Given the description of an element on the screen output the (x, y) to click on. 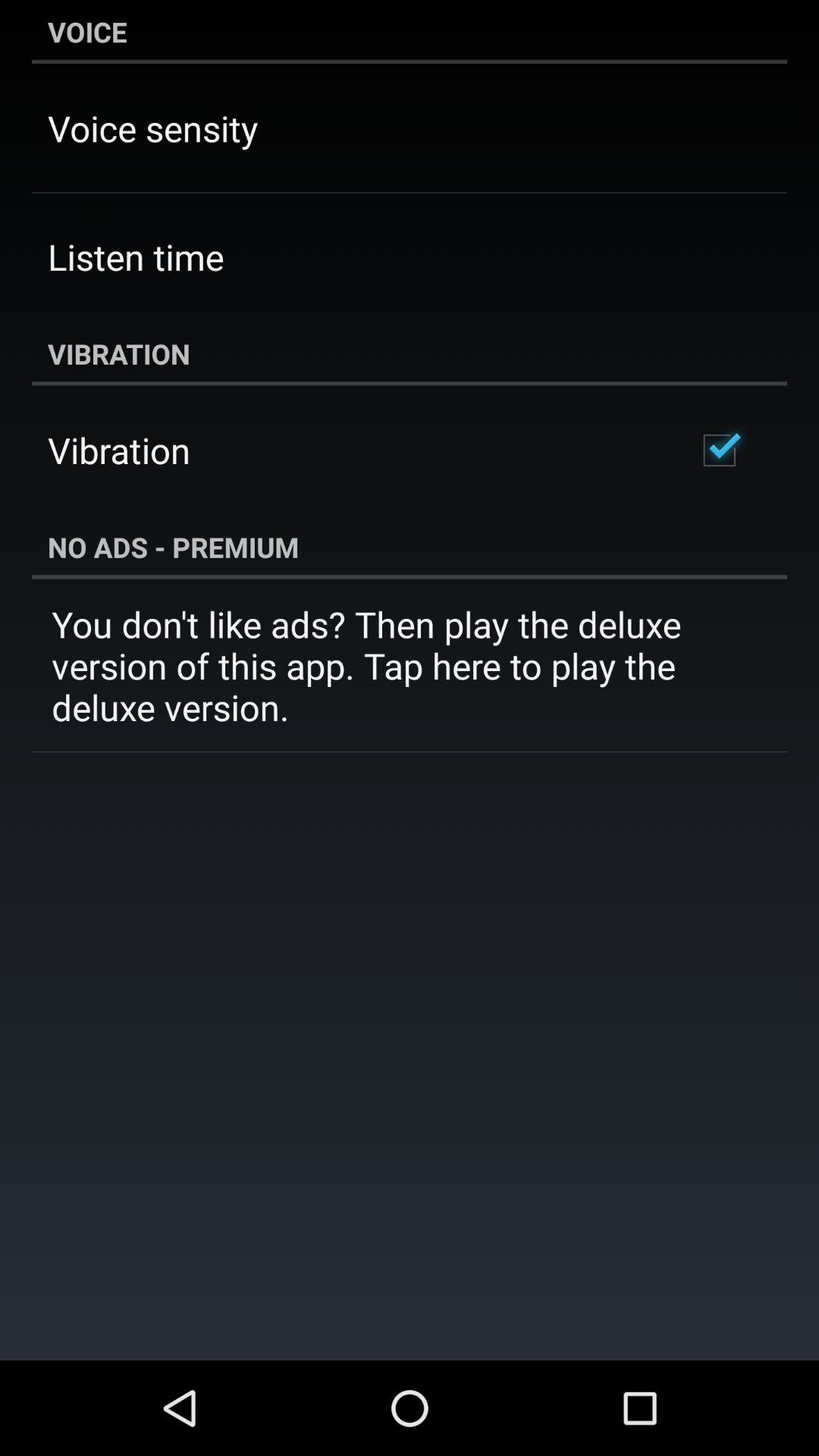
click the no ads - premium icon (409, 546)
